Given the description of an element on the screen output the (x, y) to click on. 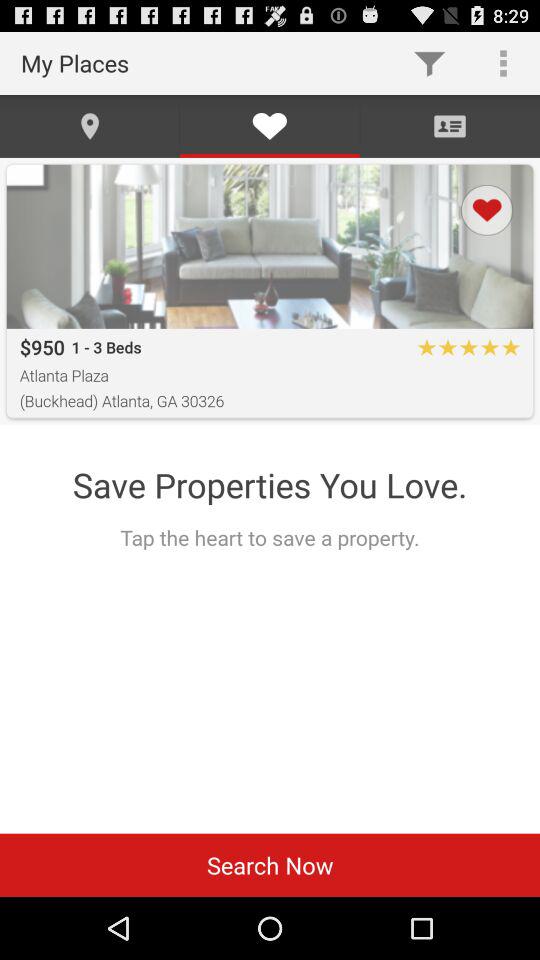
turn off search now (270, 864)
